Given the description of an element on the screen output the (x, y) to click on. 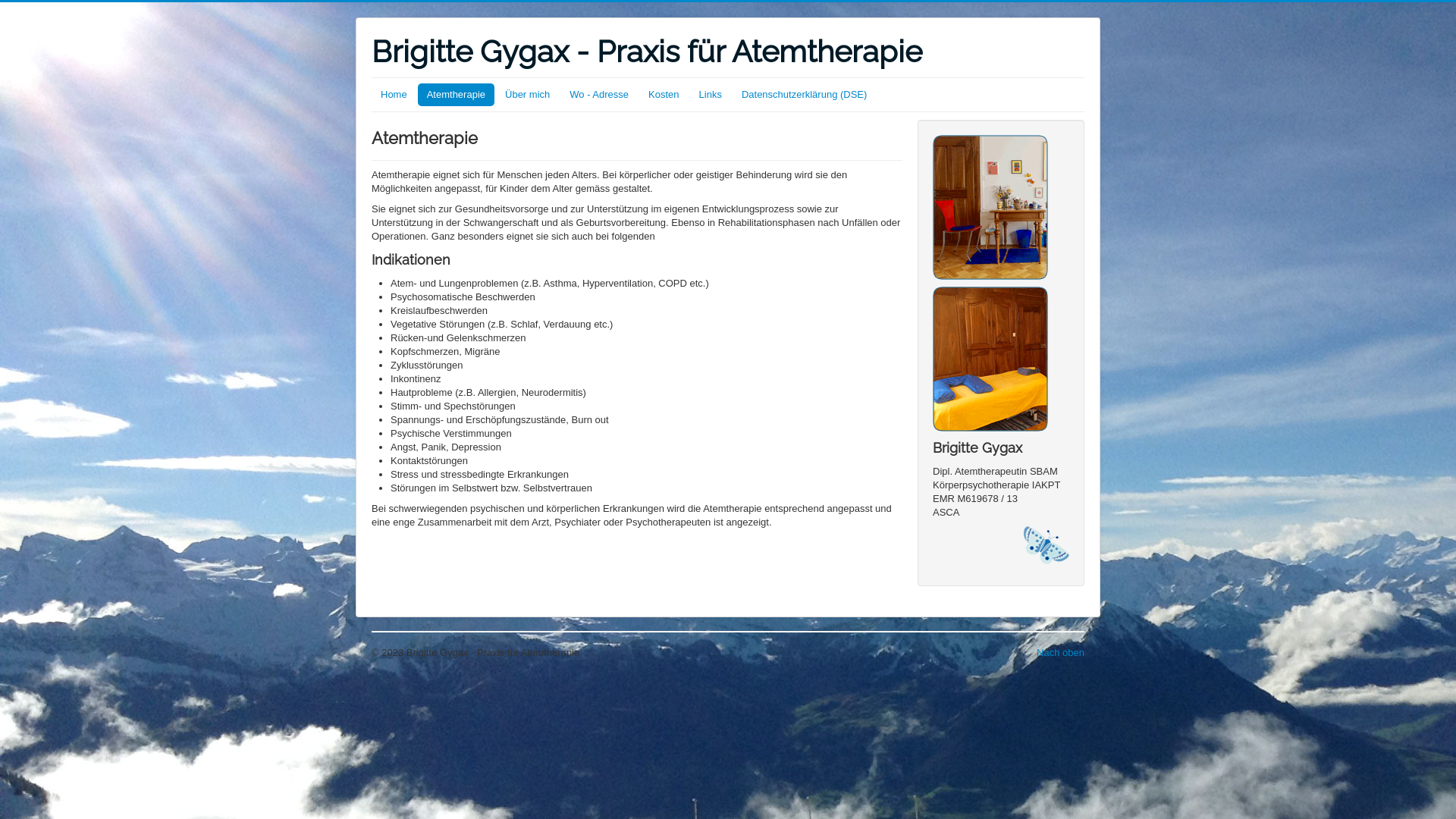
Atemtherapie Element type: text (455, 94)
Wo - Adresse Element type: text (598, 94)
Links Element type: text (710, 94)
Home Element type: text (393, 94)
Kosten Element type: text (663, 94)
Nach oben Element type: text (1060, 652)
